Given the description of an element on the screen output the (x, y) to click on. 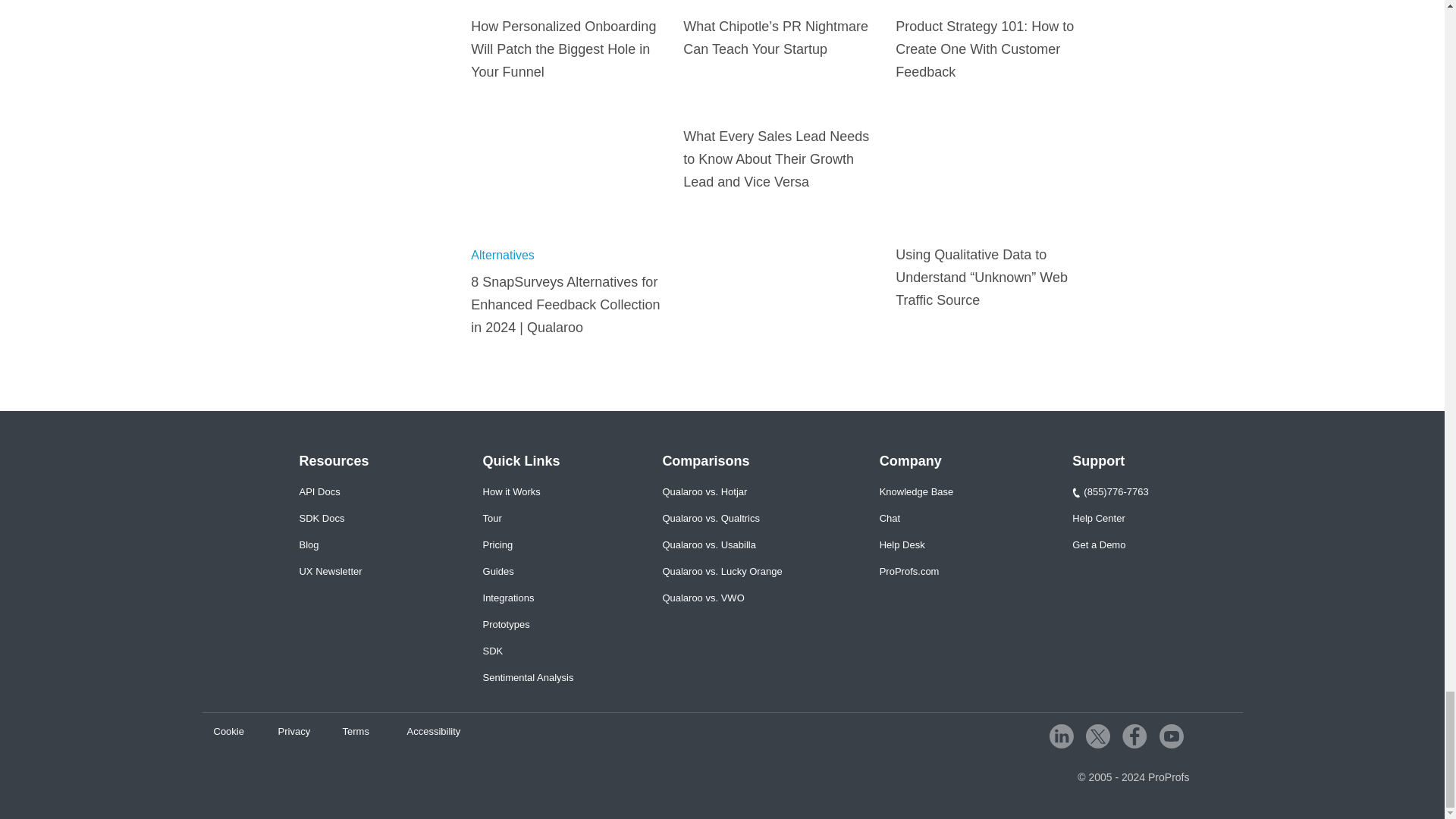
Chat (889, 518)
Help Center (1097, 518)
Follow us on facebook (1134, 735)
Tour (492, 518)
Follow us on Youtube (1170, 735)
Help Desk (901, 544)
Knowledge Base (916, 491)
Follow us on linkedIn (1061, 735)
ProProfs.com (909, 571)
